Given the description of an element on the screen output the (x, y) to click on. 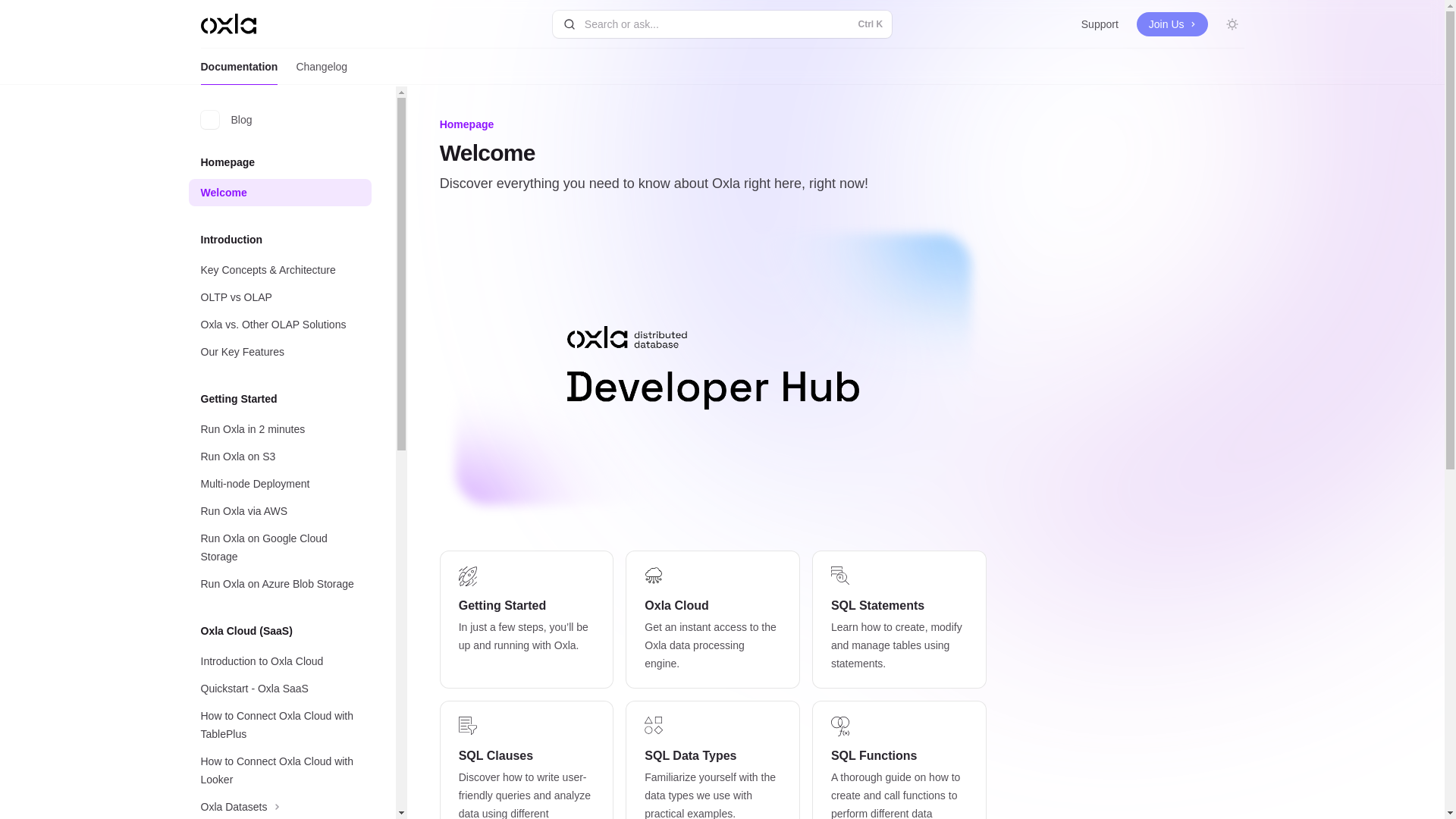
Our Key Features (279, 351)
Quickstart - Oxla SaaS (279, 687)
OLTP vs OLAP (279, 297)
Our Key Features (279, 351)
Changelog (321, 66)
Oxla Developer Hub home page (228, 24)
Oxla vs. Other OLAP Solutions (279, 324)
How to Connect Oxla Cloud with Looker (279, 770)
Introduction to Oxla Cloud (279, 660)
Run Oxla on Google Cloud Storage (279, 547)
